Given the description of an element on the screen output the (x, y) to click on. 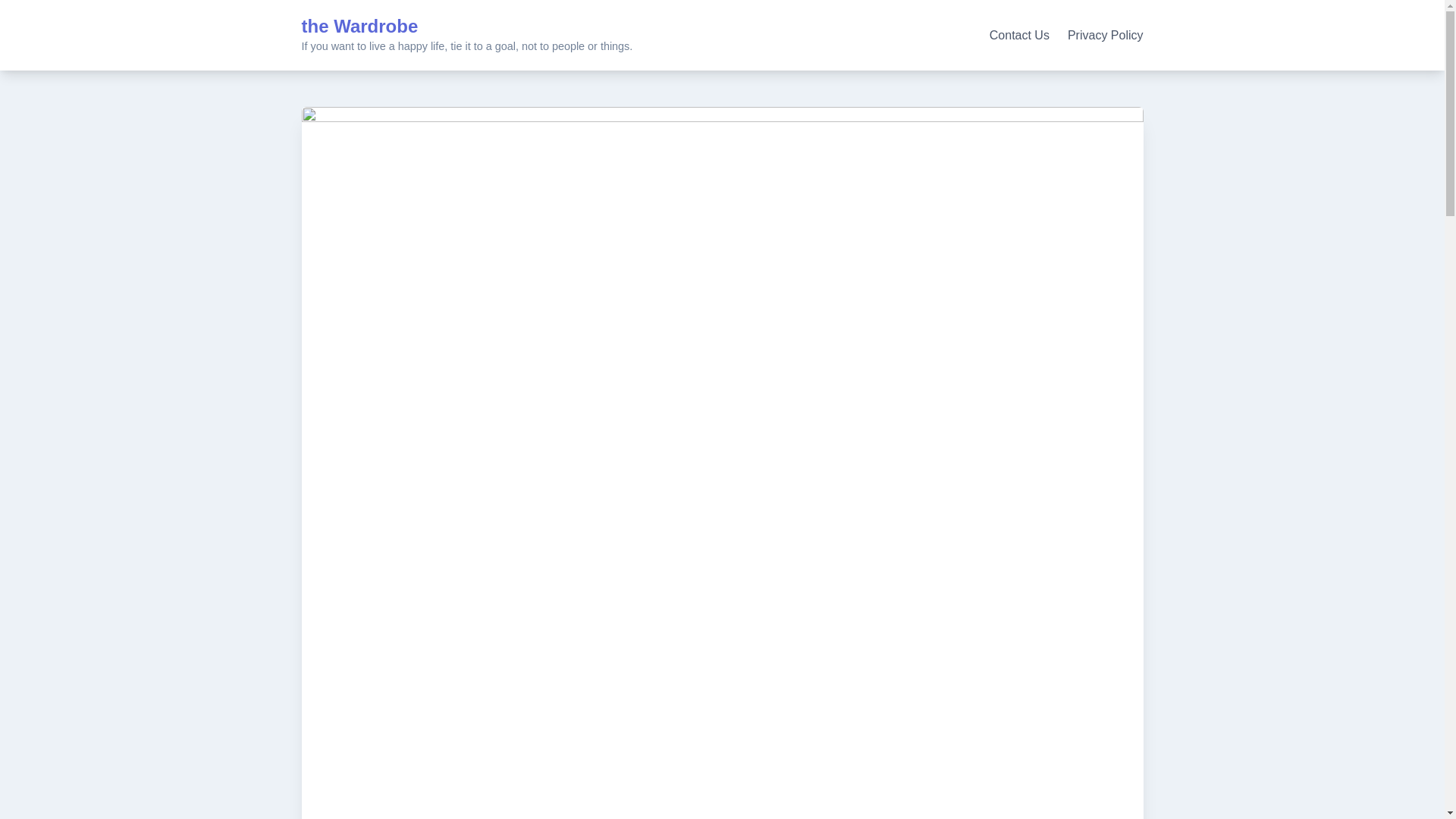
Contact Us (1019, 35)
Privacy Policy (1104, 35)
the Wardrobe (360, 25)
